Given the description of an element on the screen output the (x, y) to click on. 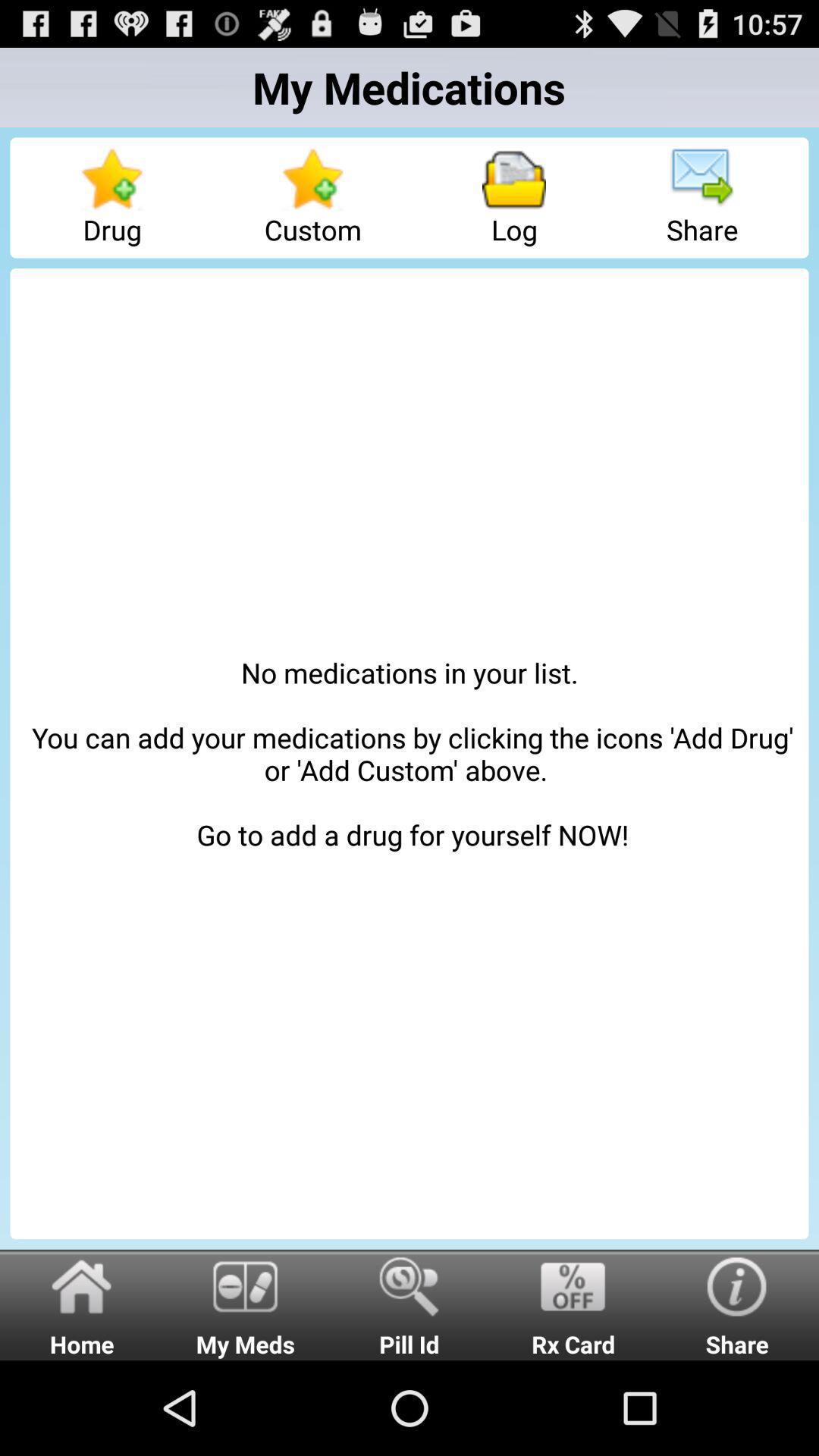
click radio button next to the my meds (409, 1304)
